Given the description of an element on the screen output the (x, y) to click on. 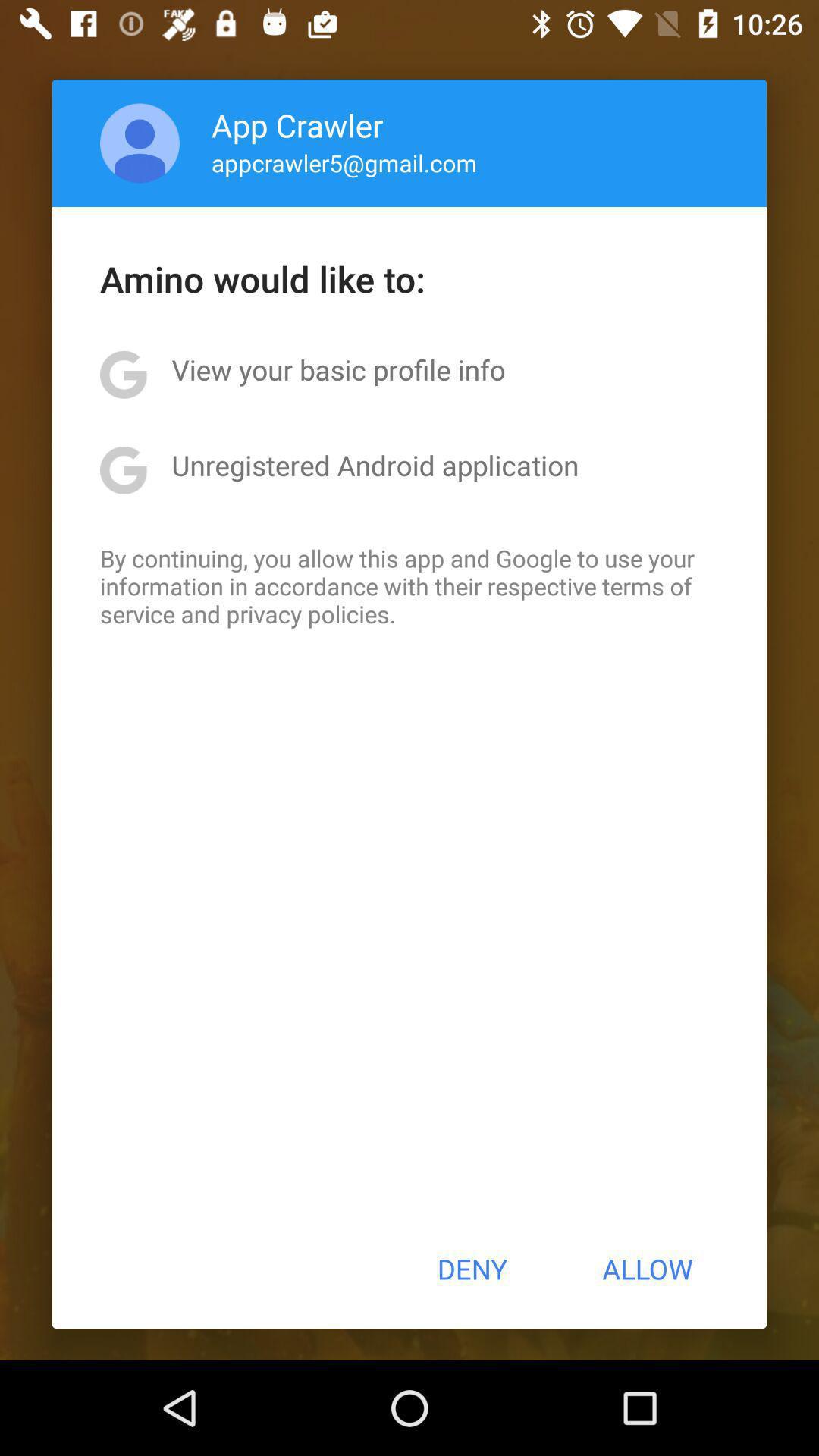
click the unregistered android application icon (374, 465)
